Given the description of an element on the screen output the (x, y) to click on. 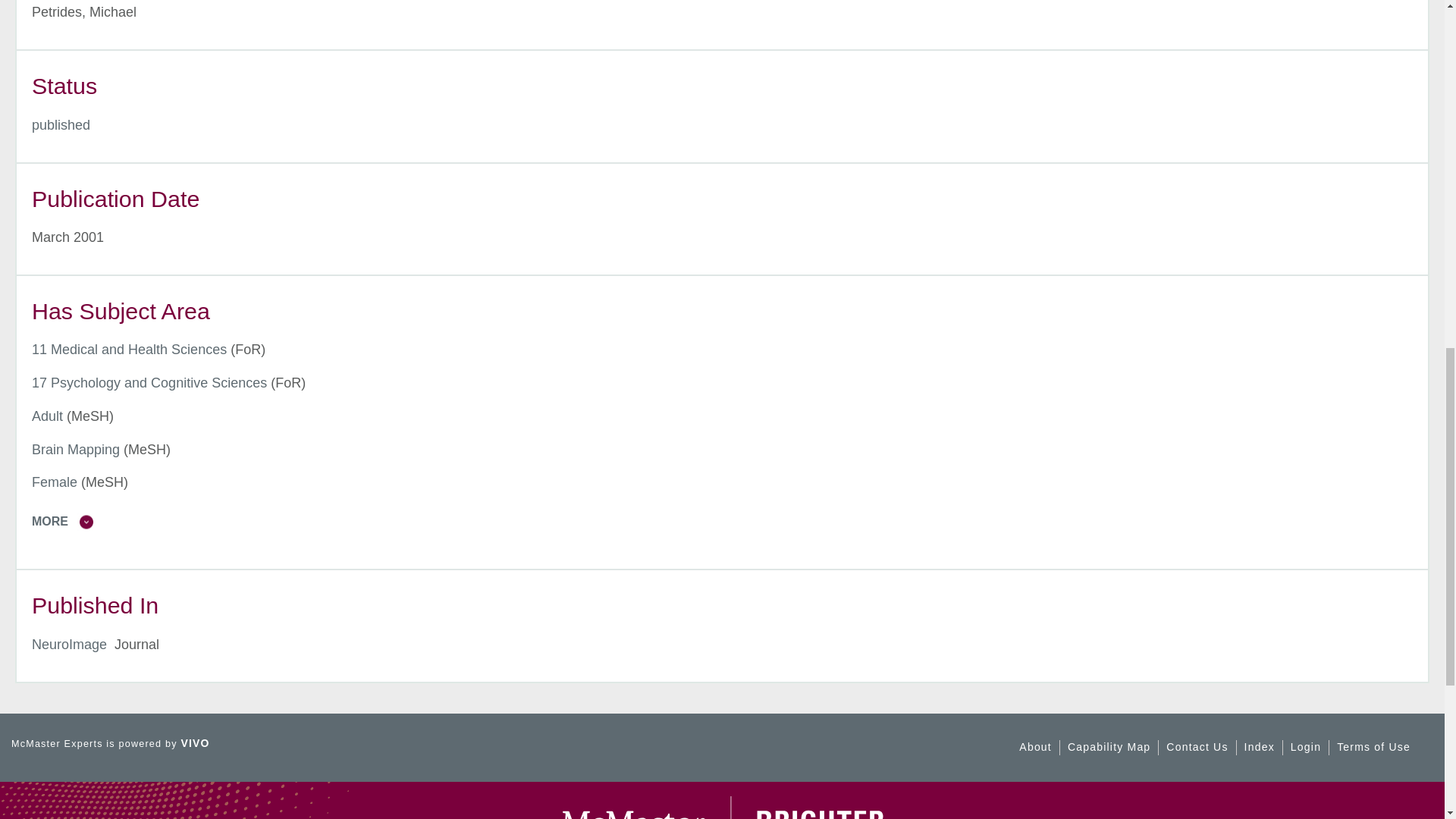
concept name (54, 482)
concept name (47, 416)
name (61, 124)
concept name (149, 382)
concept name (129, 349)
concept name (75, 449)
